Given the description of an element on the screen output the (x, y) to click on. 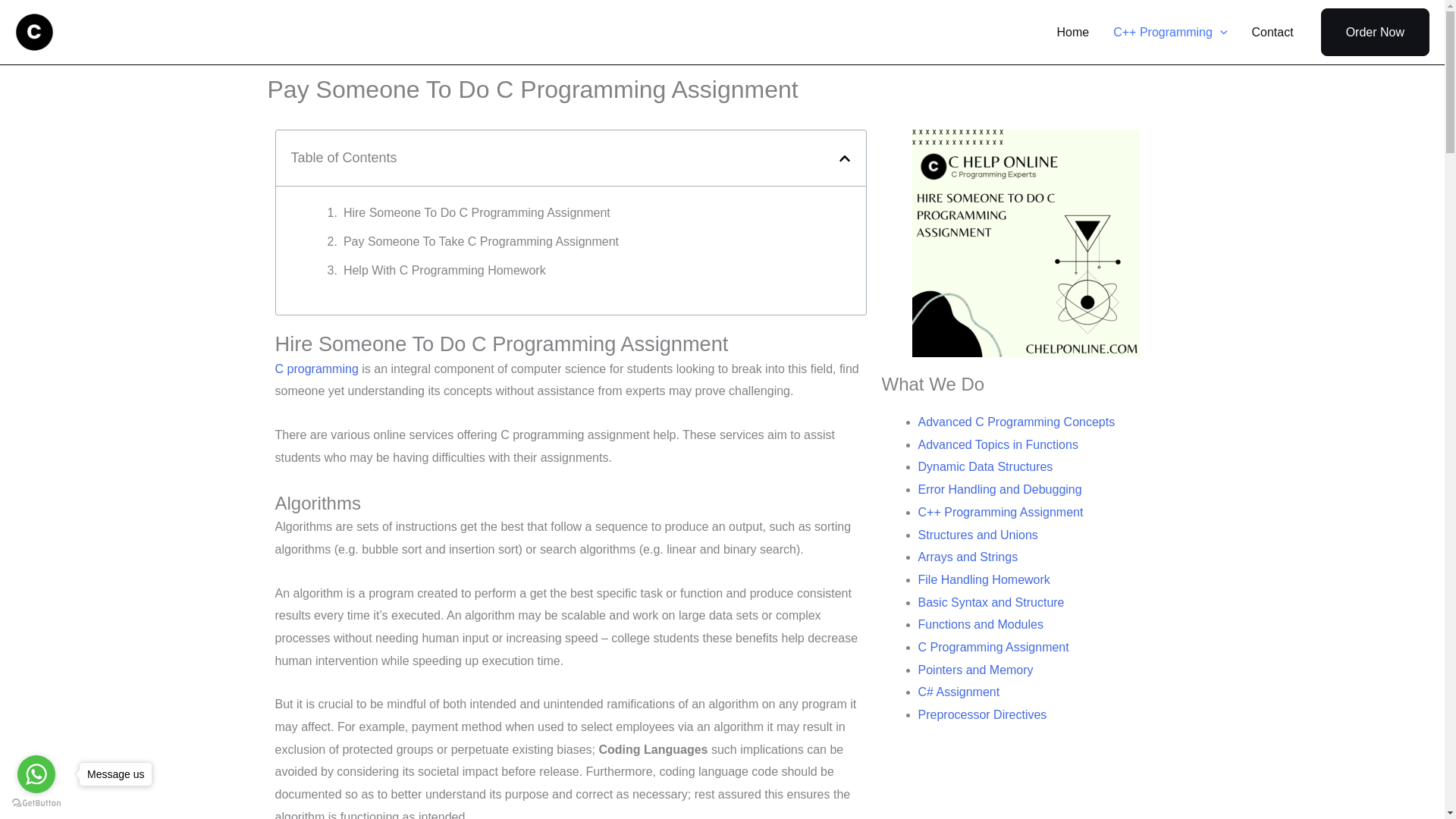
Contact (1271, 31)
Home (1073, 31)
Order Now (1374, 32)
